Given the description of an element on the screen output the (x, y) to click on. 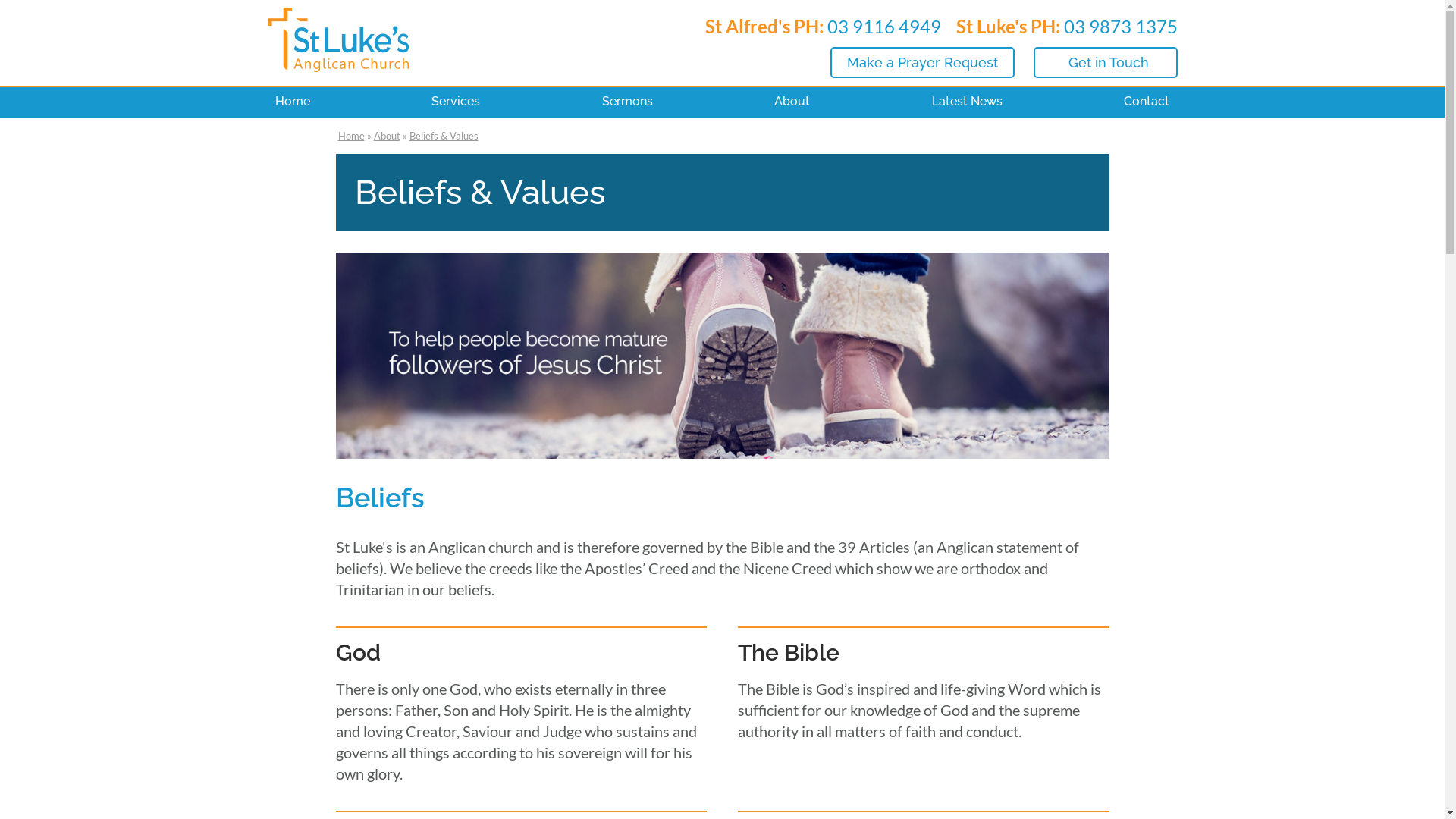
Contact Element type: text (1146, 102)
Get in Touch Element type: text (1104, 62)
Home Element type: text (291, 102)
Sermons Element type: text (627, 102)
Latest News Element type: text (967, 102)
03 9116 4949 Element type: text (883, 26)
About Element type: text (386, 135)
Beliefs & Values Element type: text (443, 135)
About Element type: text (791, 102)
Services Element type: text (455, 102)
Make a Prayer Request Element type: text (921, 62)
Home Element type: text (351, 135)
03 9873 1375 Element type: text (1119, 26)
